Given the description of an element on the screen output the (x, y) to click on. 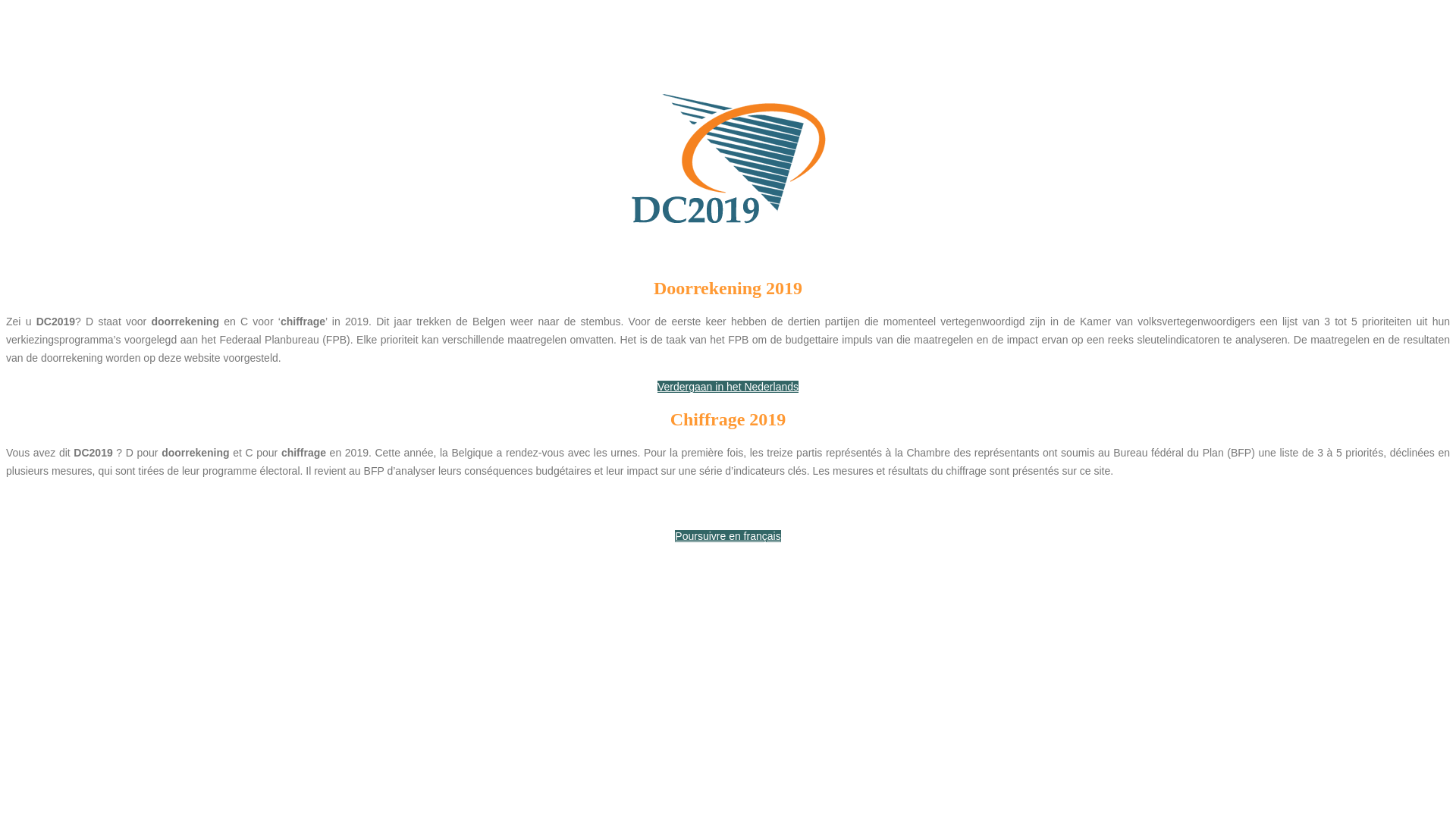
Verdergaan in het Nederlands Element type: text (727, 386)
